Given the description of an element on the screen output the (x, y) to click on. 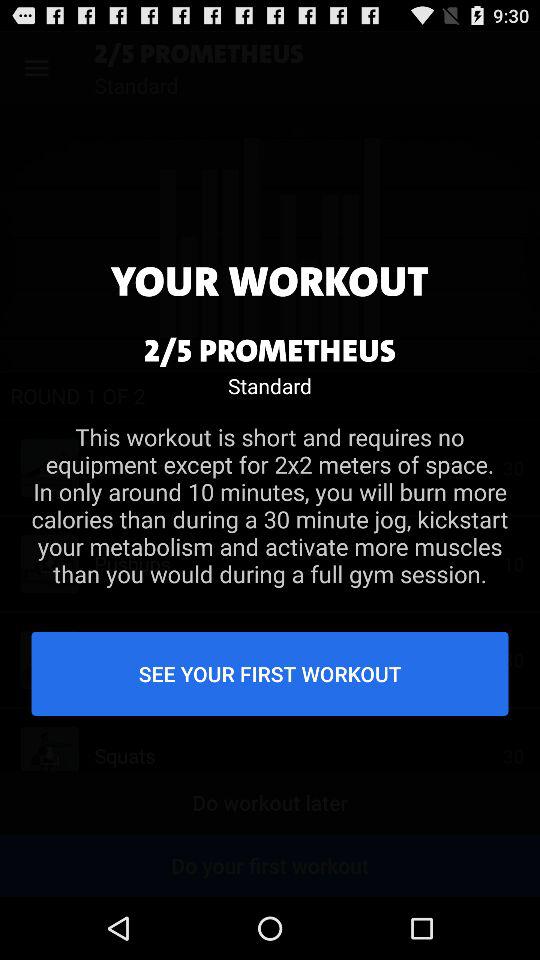
launch item at the bottom (269, 673)
